Given the description of an element on the screen output the (x, y) to click on. 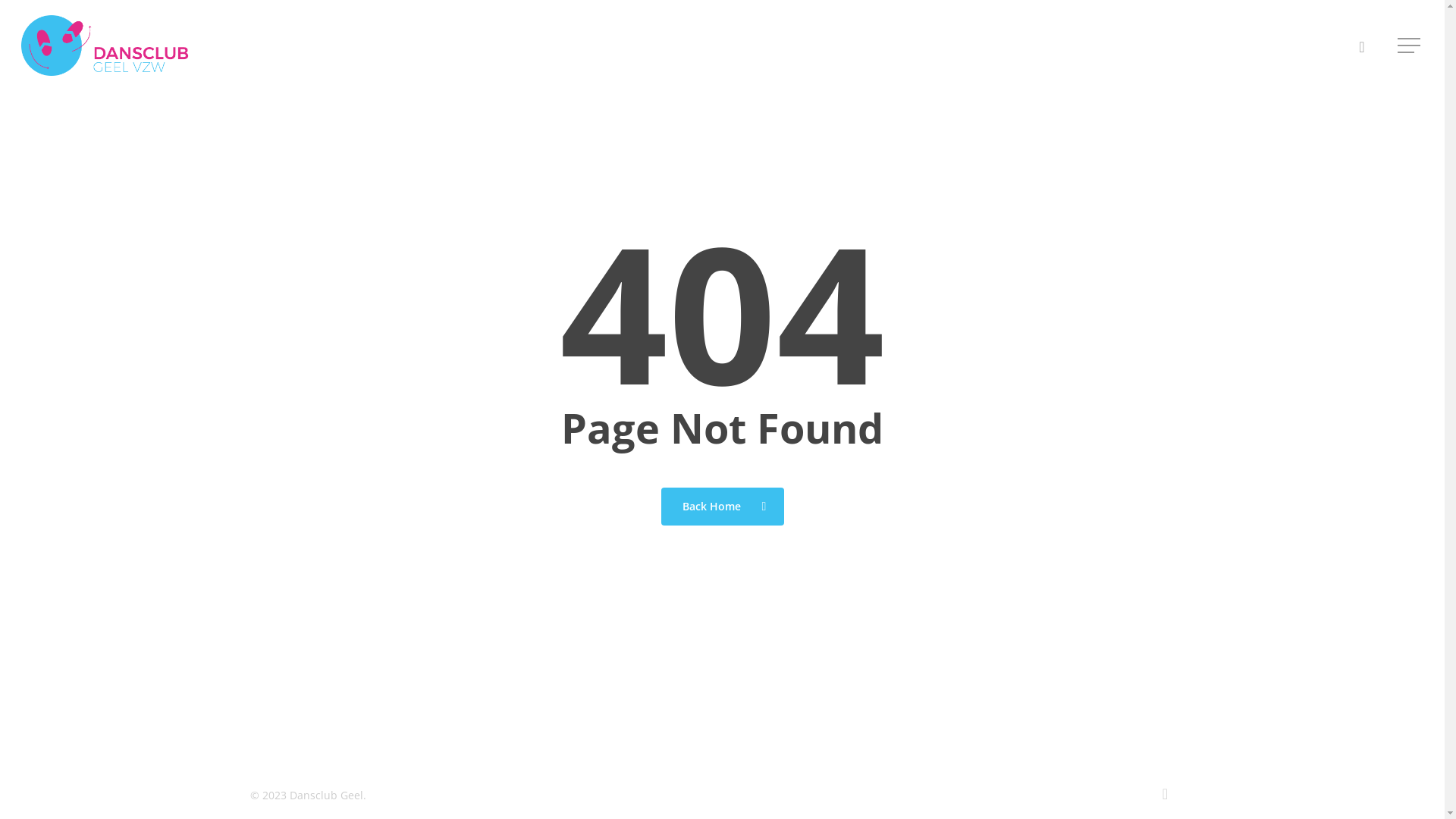
facebook Element type: text (1164, 793)
Back Home Element type: text (722, 505)
facebook Element type: text (1361, 45)
Menu Element type: text (1410, 45)
